Given the description of an element on the screen output the (x, y) to click on. 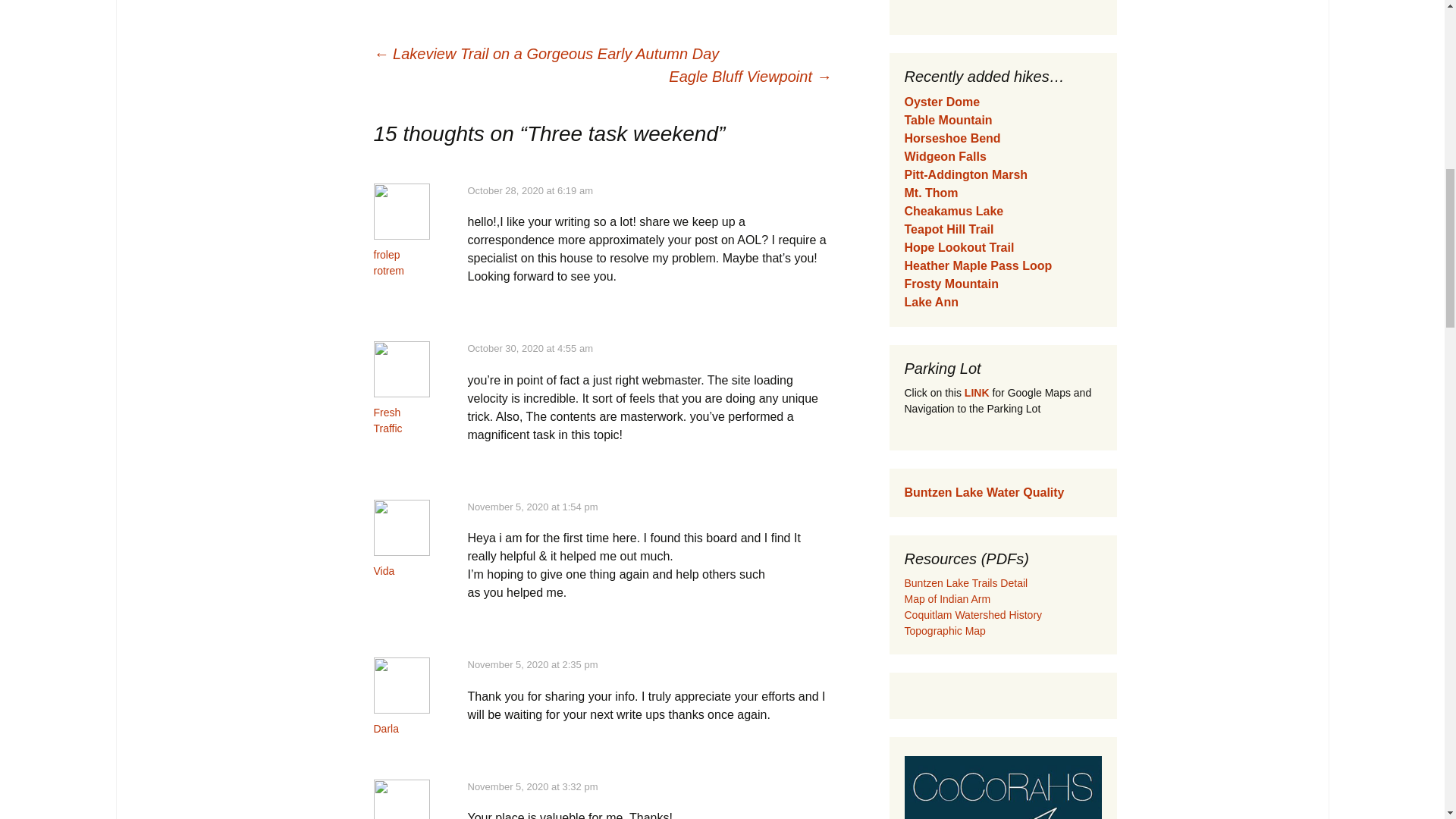
Pitt-Addington Marsh (965, 174)
Horseshoe Bend (952, 137)
Widgeon Falls (944, 155)
Oyster Dome (941, 101)
Table Mountain (947, 119)
Mt. Thom (931, 192)
